Given the description of an element on the screen output the (x, y) to click on. 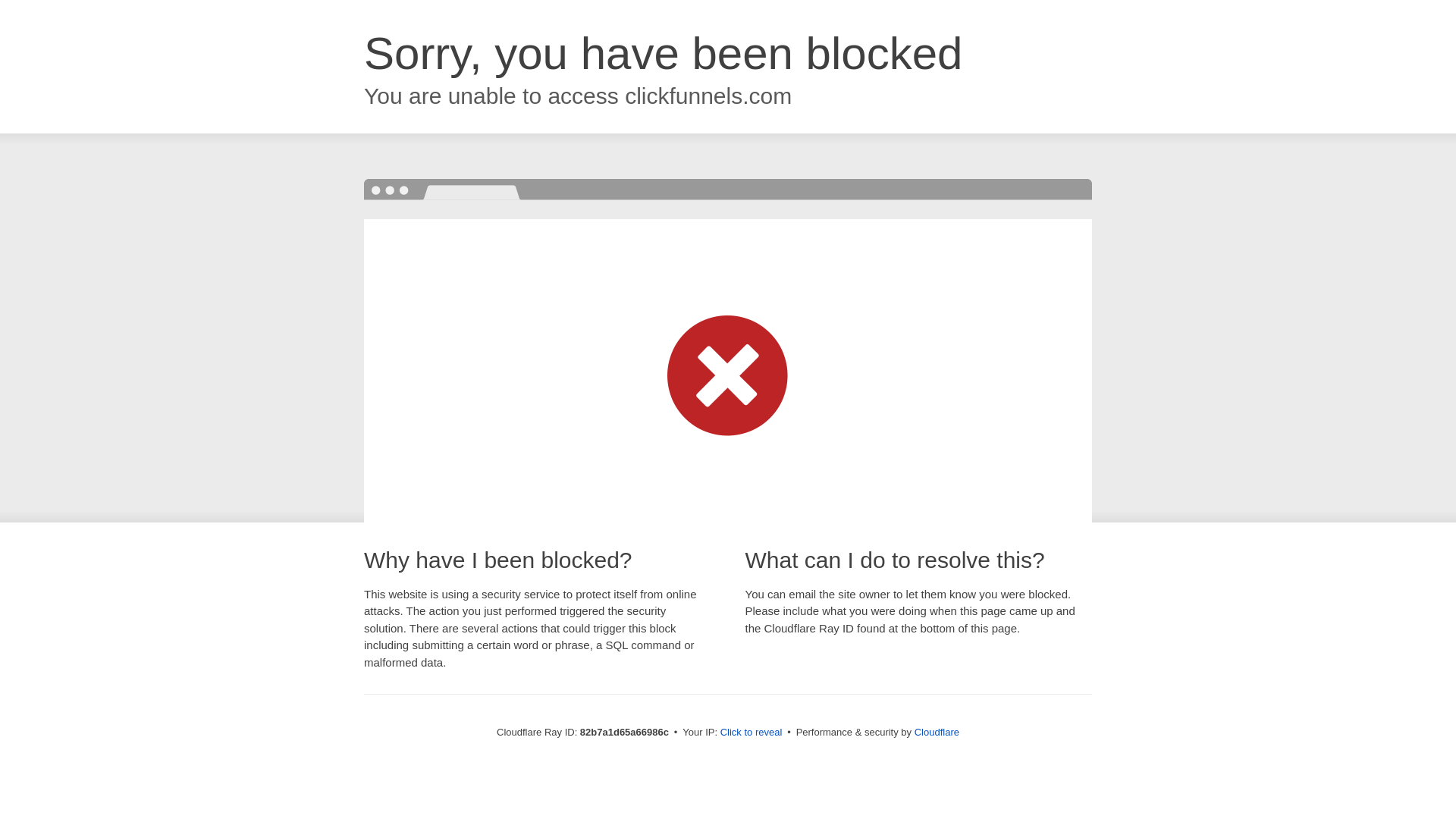
Cloudflare Element type: text (936, 731)
Click to reveal Element type: text (751, 732)
